Given the description of an element on the screen output the (x, y) to click on. 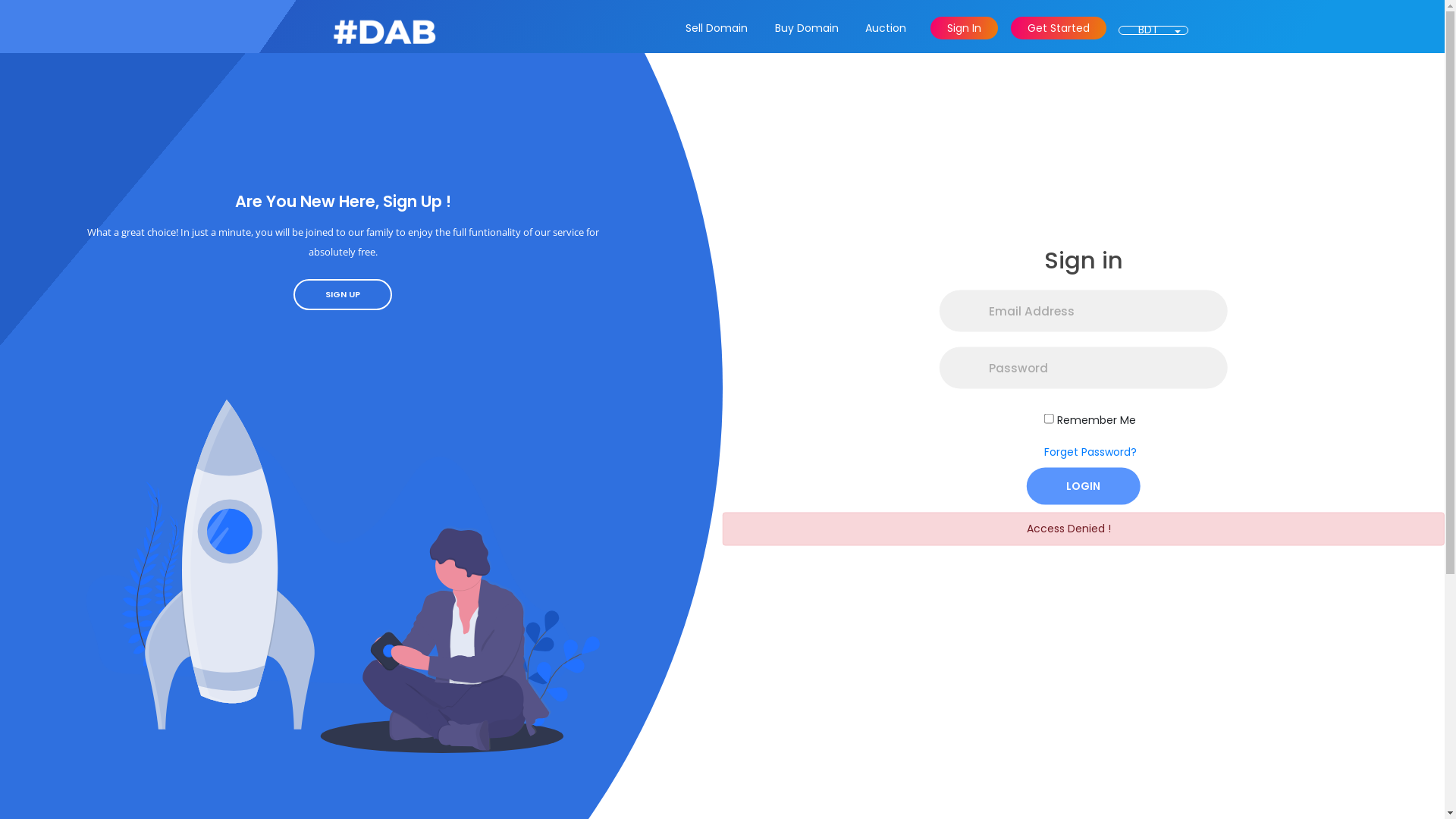
LOGIN Element type: text (1083, 485)
Forget Password? Element type: text (1089, 450)
SIGN UP Element type: text (342, 294)
BDT Element type: text (1148, 29)
Buy Domain Element type: text (804, 27)
Sell Domain Element type: text (715, 27)
Get Started Element type: text (1058, 27)
Sign In Element type: text (963, 27)
Auction Element type: text (884, 27)
